Given the description of an element on the screen output the (x, y) to click on. 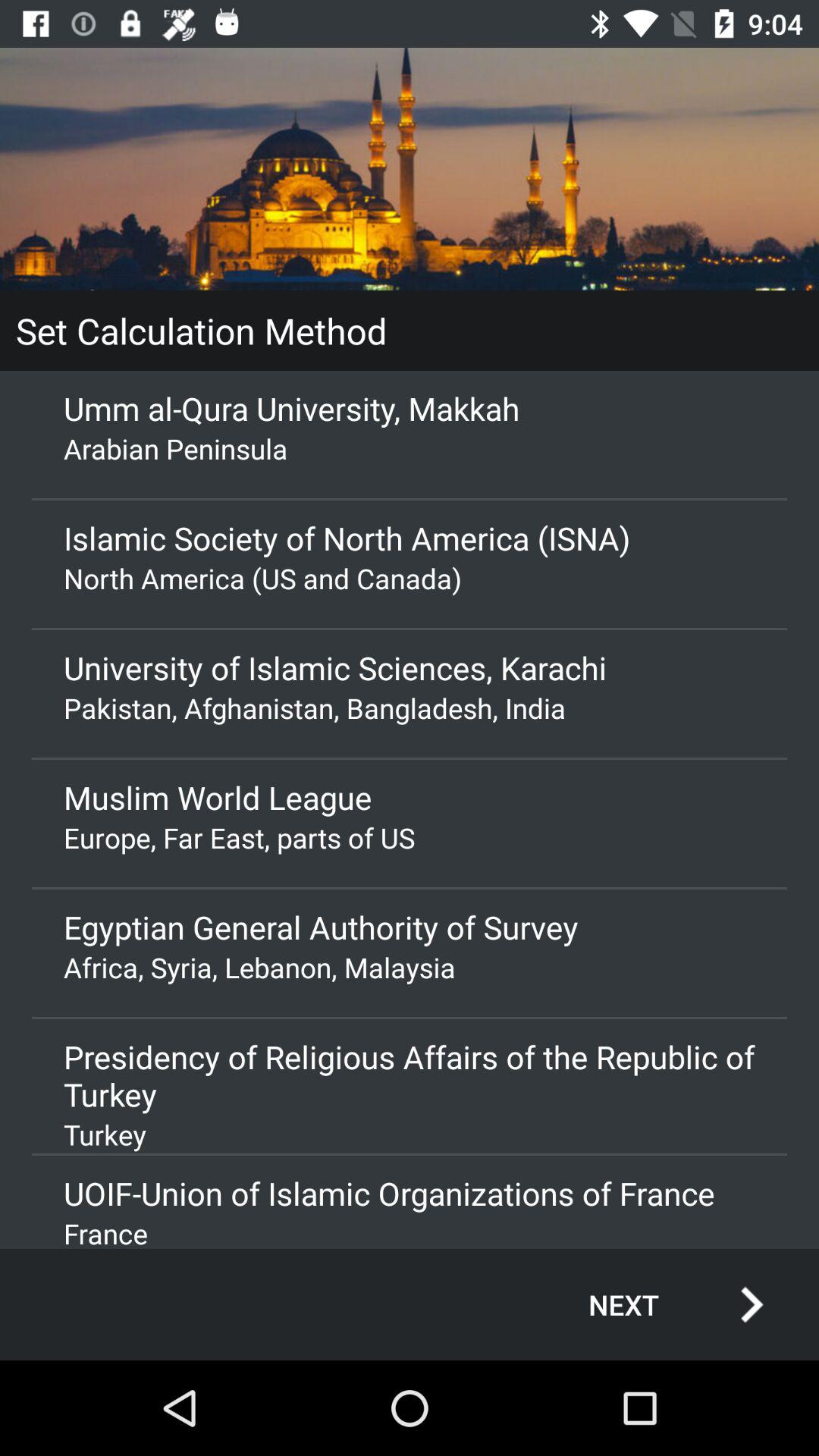
choose the europe far east item (409, 837)
